Given the description of an element on the screen output the (x, y) to click on. 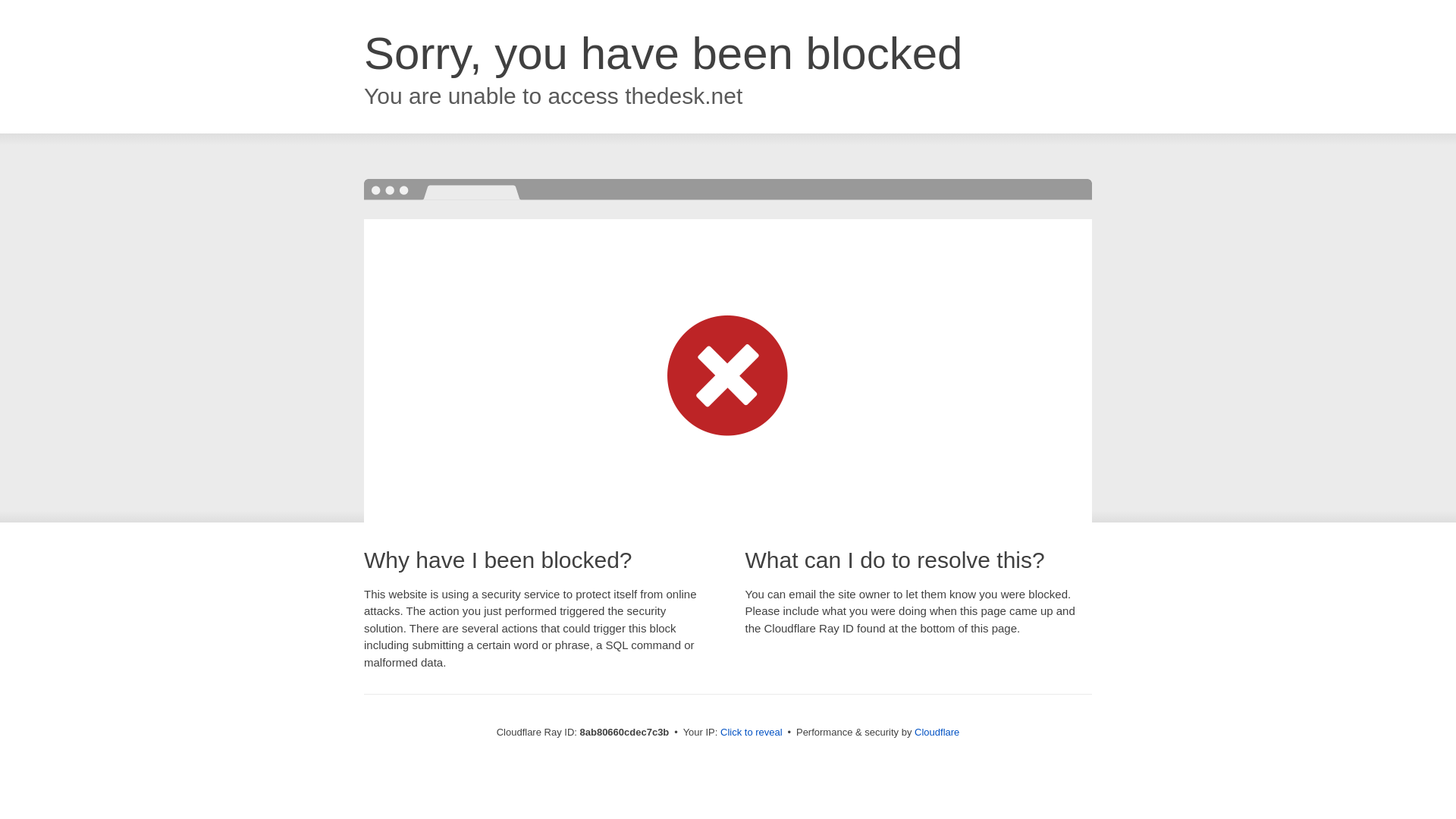
Click to reveal (751, 732)
Cloudflare (936, 731)
